Given the description of an element on the screen output the (x, y) to click on. 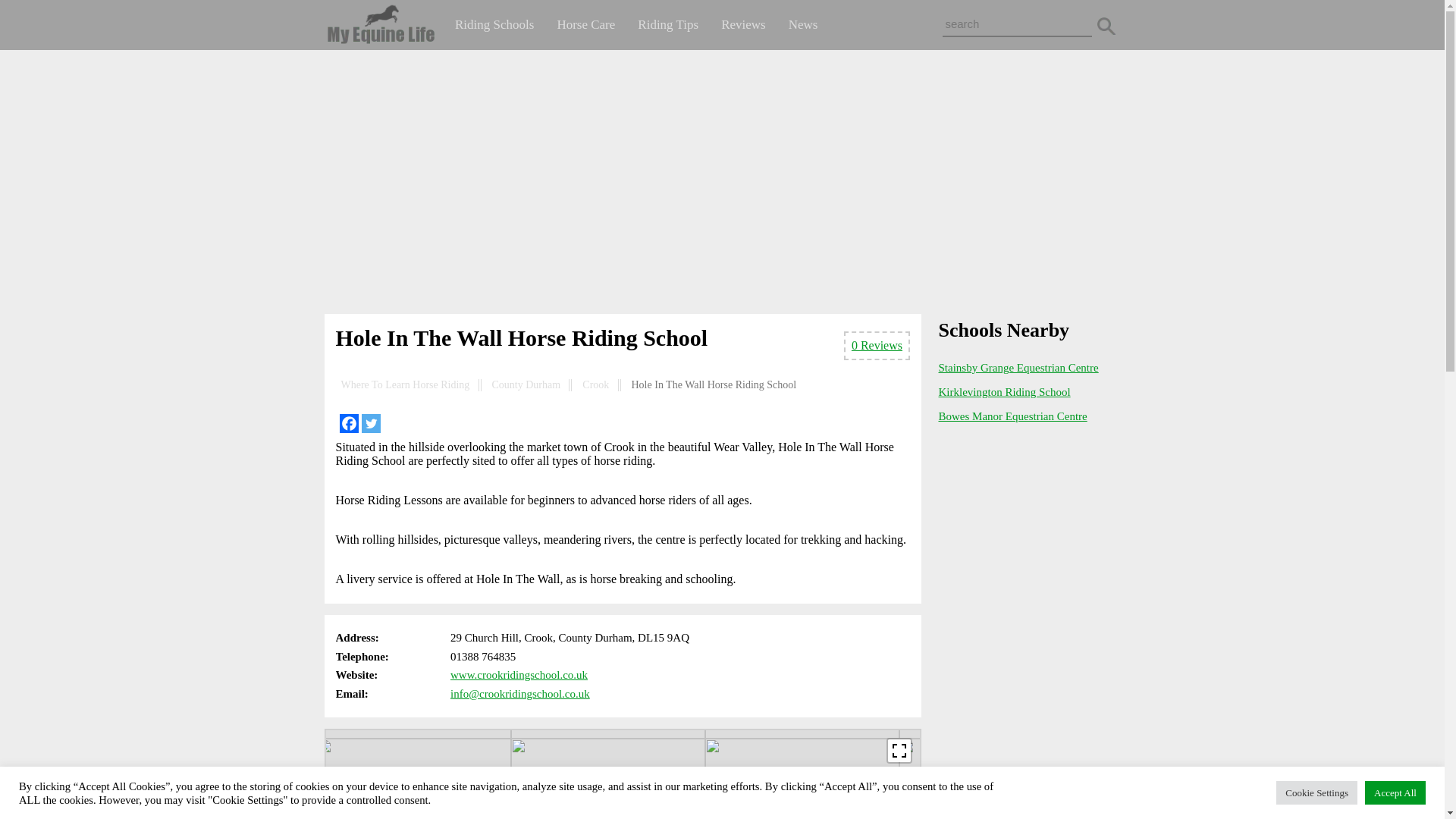
Accept All (1395, 792)
Facebook (348, 423)
County Durham (526, 385)
Reviews (742, 23)
0 Reviews (876, 345)
Riding Tips (667, 23)
Horse Care (585, 23)
News (803, 23)
Crook (595, 385)
www.crookridingschool.co.uk (518, 674)
